Given the description of an element on the screen output the (x, y) to click on. 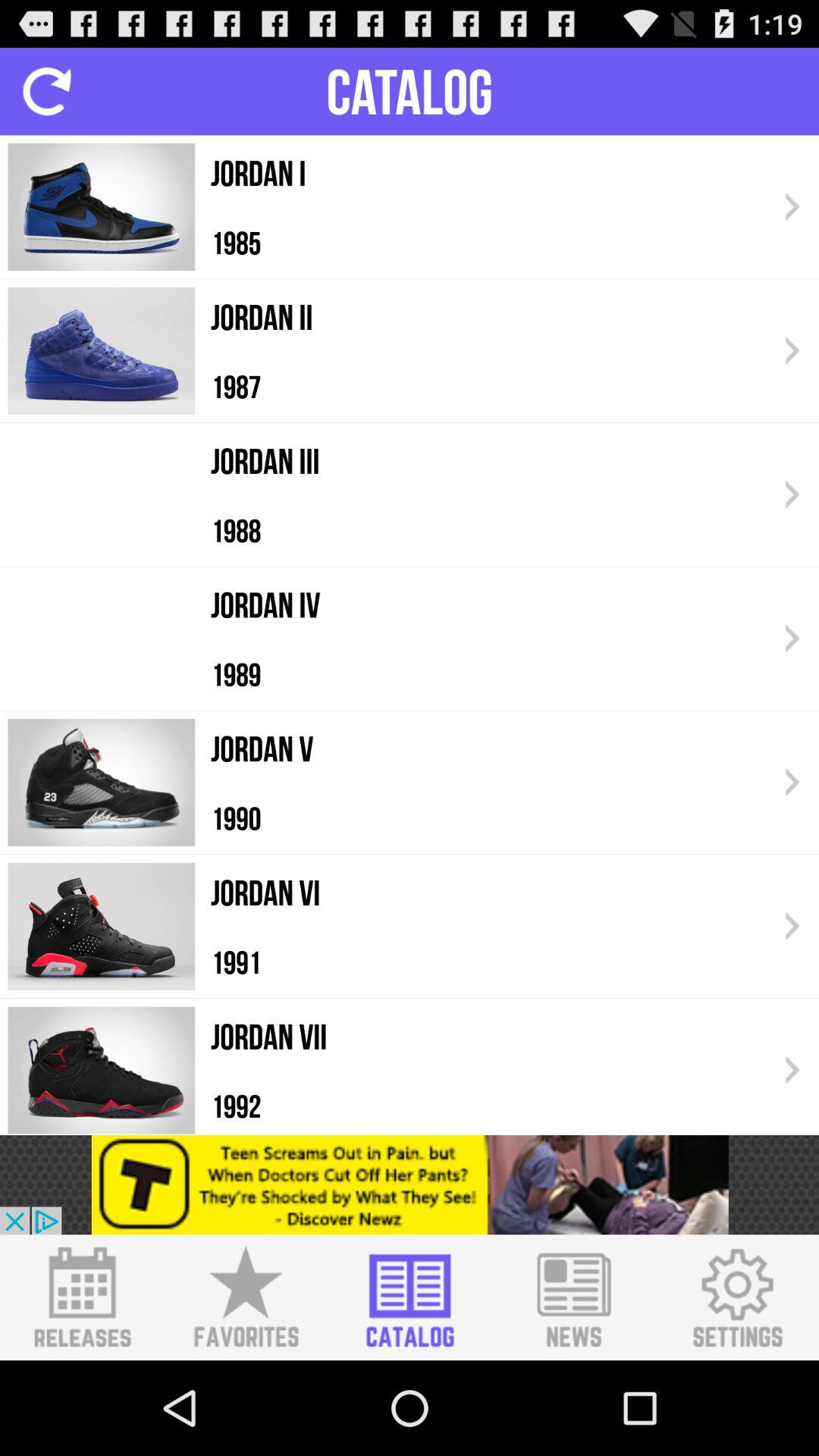
view news (573, 1297)
